Given the description of an element on the screen output the (x, y) to click on. 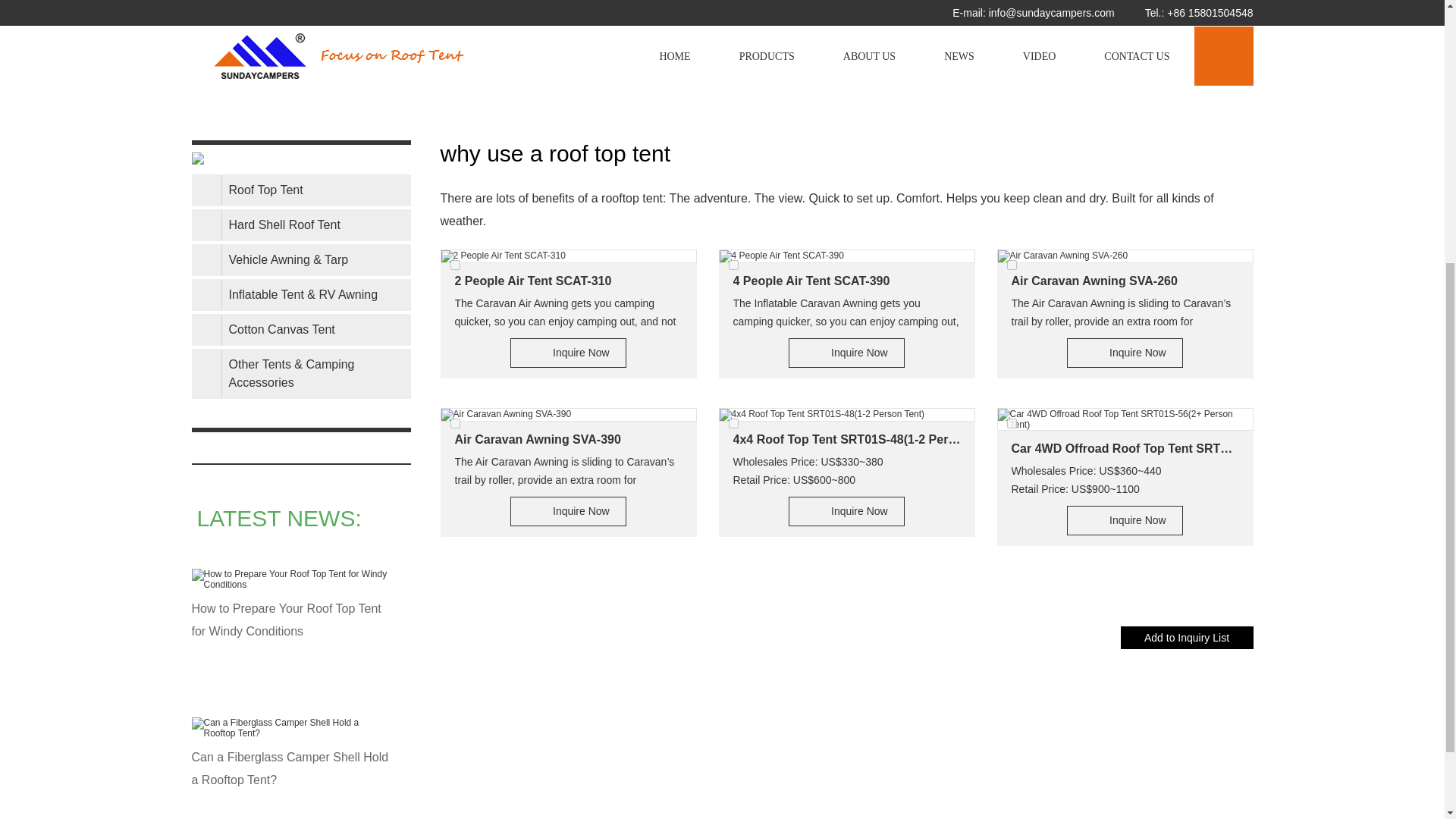
on (454, 265)
Add to Inquiry List (1187, 637)
858 (1011, 265)
on (1011, 423)
824 (1011, 423)
859 (454, 423)
857 (733, 265)
on (733, 423)
on (454, 423)
823 (733, 423)
